Given the description of an element on the screen output the (x, y) to click on. 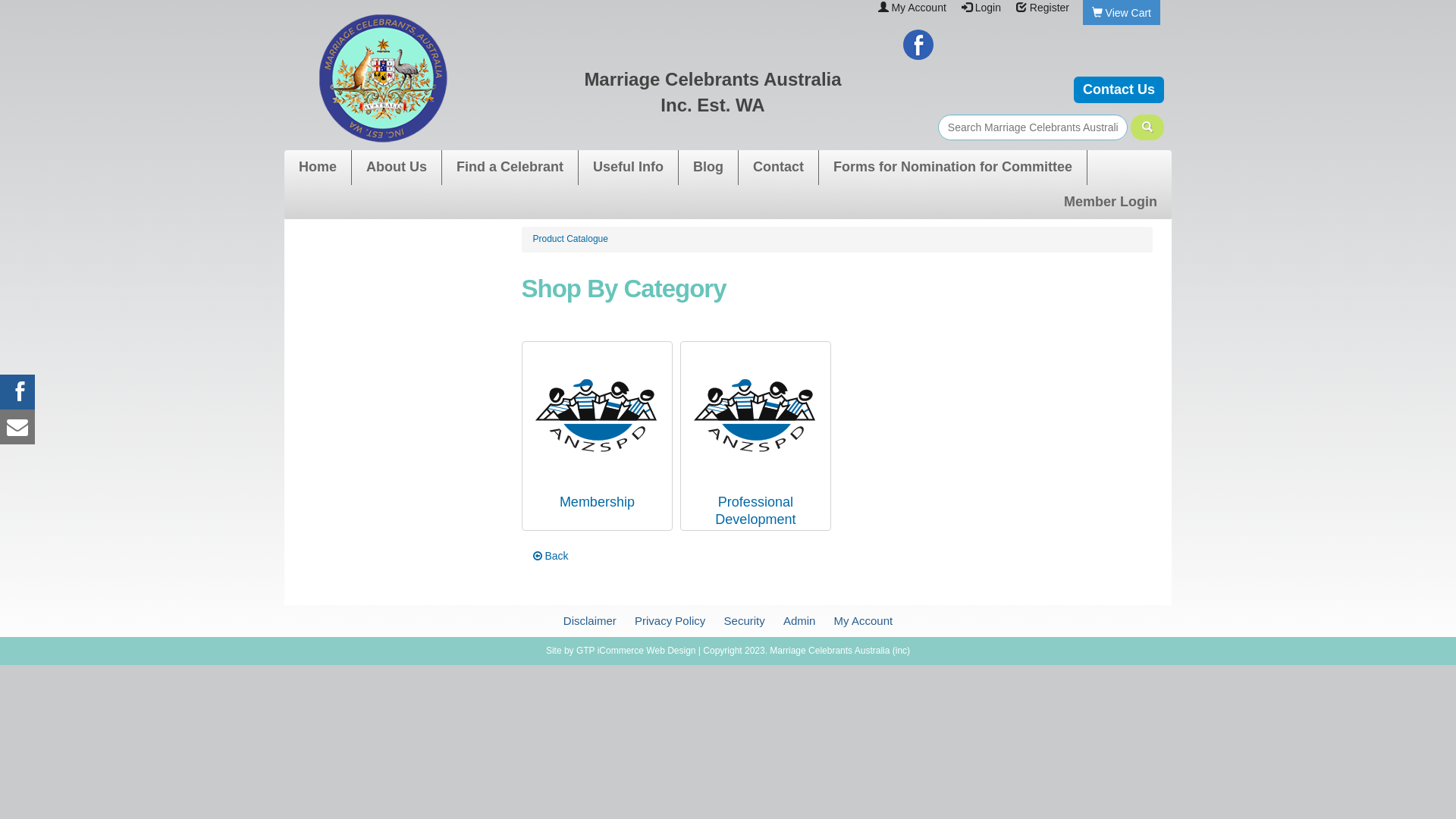
 Back Element type: text (549, 555)
Useful Info Element type: text (628, 167)
submit Element type: text (1147, 127)
Admin Element type: text (799, 620)
Contact Us Element type: text (1118, 89)
View Cart Element type: text (1128, 12)
Find a Celebrant Element type: text (509, 167)
Marriage Celebrants Australia (inc) Element type: hover (583, 77)
Membership Category Element type: hover (596, 413)
Search Element type: hover (1147, 126)
Register Element type: text (1049, 7)
Marriage Celebrants Australia (inc) Email Us Element type: hover (17, 426)
Professional Development Element type: text (755, 510)
My Account Element type: text (918, 7)
Facebook Element type: text (918, 44)
Blog Element type: text (708, 167)
Member Login Element type: text (1110, 202)
Membership Element type: text (596, 501)
Contact Element type: text (778, 167)
Membership Element type: hover (596, 414)
Forms for Nomination for Committee Element type: text (952, 167)
Marriage Celebrants Australia (inc) Facebook Element type: hover (17, 391)
Product Catalogue Element type: text (569, 238)
Privacy Policy Element type: text (669, 620)
About Us Element type: text (396, 167)
Login Element type: text (988, 7)
Search For a Celebrant Element type: hover (1032, 127)
My Account Element type: text (863, 620)
GTP iCommerce Web Design Element type: text (636, 650)
Professional Development Category Element type: hover (755, 413)
Professional Development Element type: hover (755, 414)
Disclaimer Element type: text (589, 620)
Marriage Celebrants Australia (inc) Element type: hover (382, 77)
Security Element type: text (744, 620)
Search for a Celebrant Element type: hover (1147, 127)
Home Element type: text (317, 167)
